Given the description of an element on the screen output the (x, y) to click on. 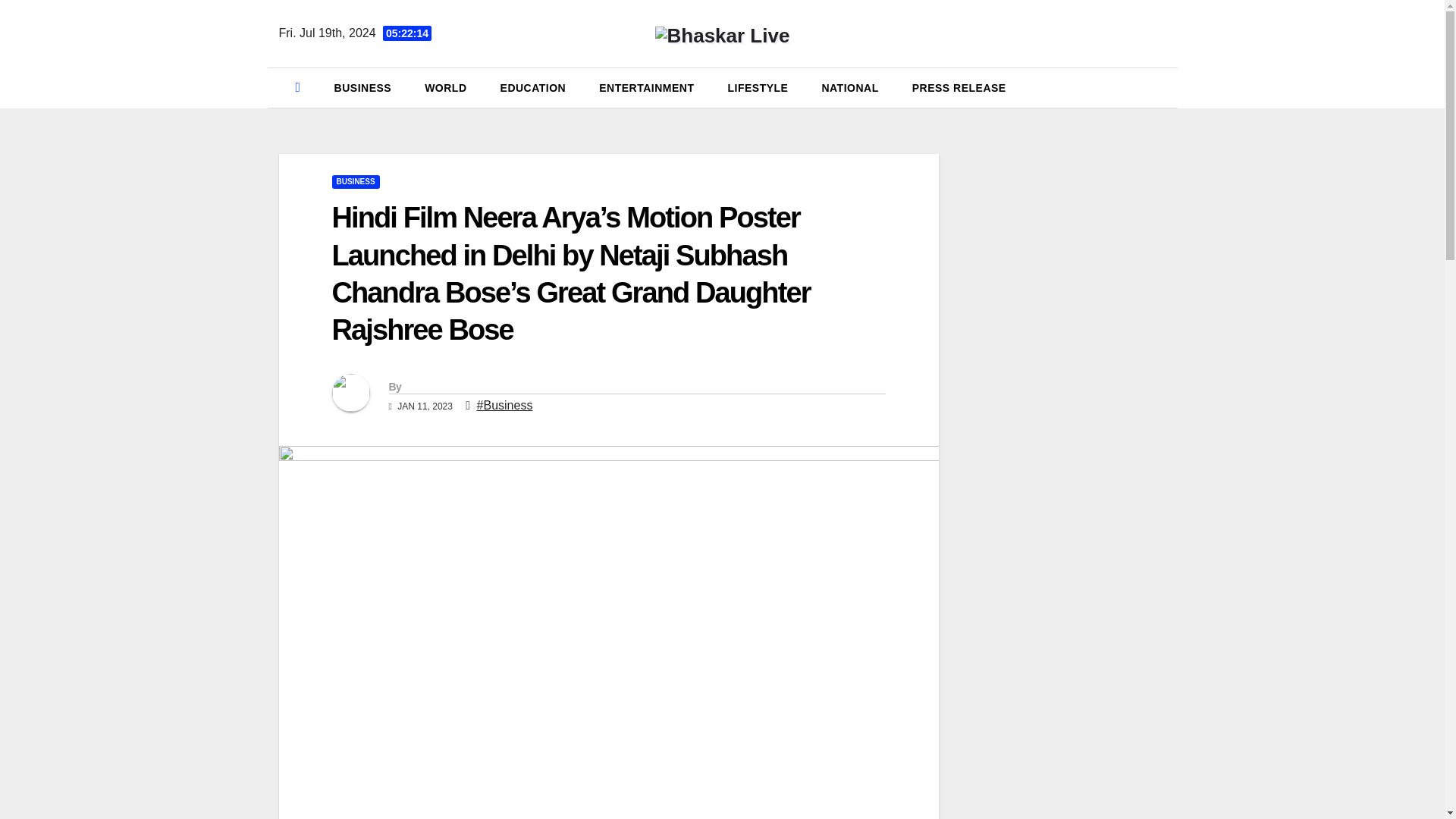
LIFESTYLE (757, 87)
BUSINESS (355, 182)
Education (533, 87)
World (445, 87)
Entertainment (646, 87)
PRESS RELEASE (959, 87)
Press Release (959, 87)
Lifestyle (757, 87)
NATIONAL (850, 87)
ENTERTAINMENT (646, 87)
WORLD (445, 87)
BUSINESS (363, 87)
National (850, 87)
EDUCATION (533, 87)
Business (363, 87)
